Given the description of an element on the screen output the (x, y) to click on. 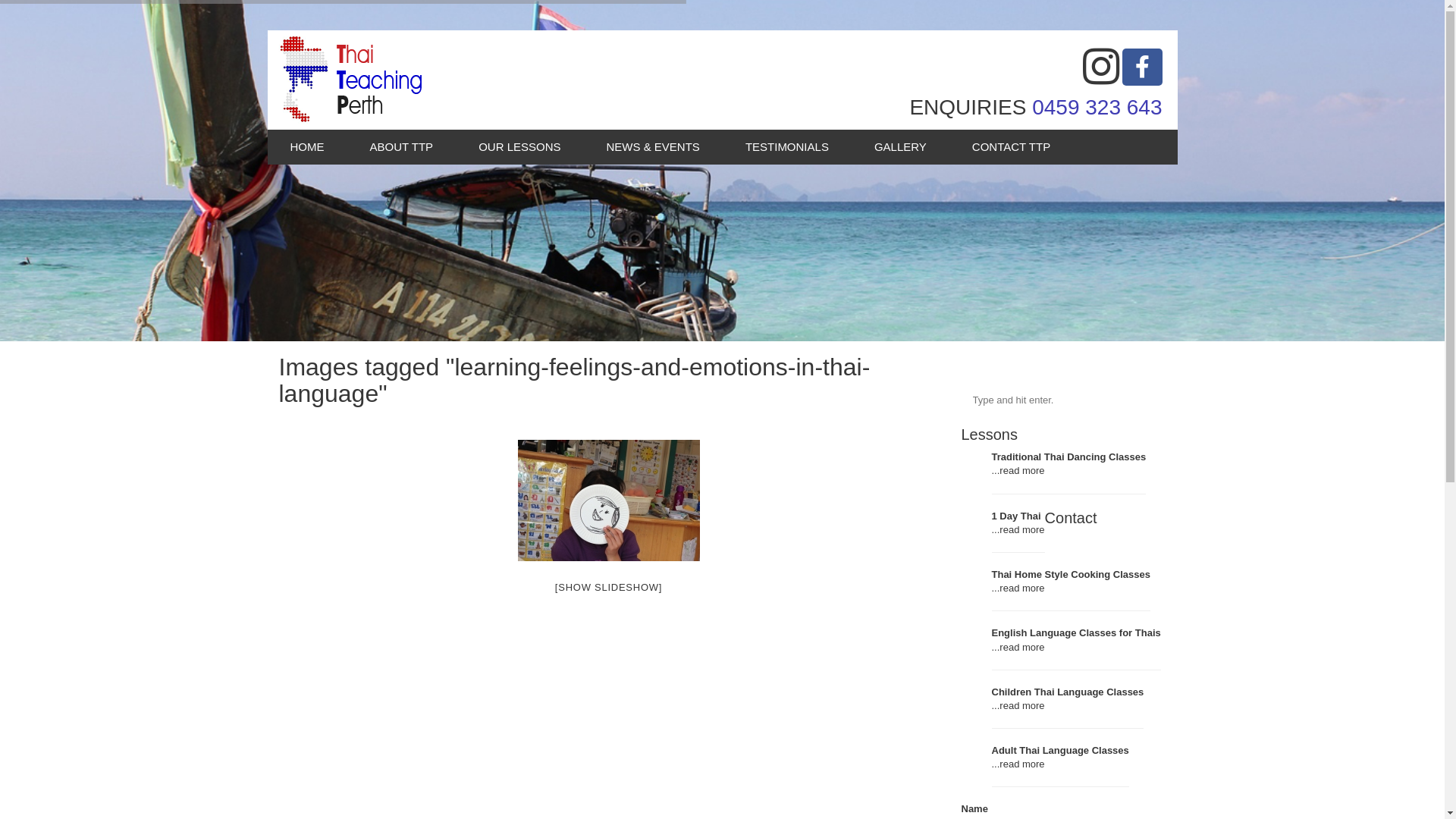
HOME Element type: text (306, 146)
read more Element type: text (1021, 529)
GALLERY Element type: text (900, 146)
read more Element type: text (1021, 705)
read more Element type: text (1021, 587)
Children Thai Language Classes Element type: text (1067, 691)
Feelings and emotions in Thai language Element type: hover (608, 500)
TESTIMONIALS Element type: text (786, 146)
[SHOW SLIDESHOW] Element type: text (608, 587)
ABOUT TTP Element type: text (401, 146)
read more Element type: text (1021, 763)
Adult Thai Language Classes Element type: text (1060, 750)
NEWS & EVENTS Element type: text (652, 146)
1 Day Thai Element type: text (1016, 515)
Thai Home Style Cooking Classes Element type: text (1071, 574)
read more Element type: text (1021, 470)
English Language Classes for Thais Element type: text (1076, 632)
Search Element type: text (1100, 399)
CONTACT TTP Element type: text (1011, 146)
Traditional Thai Dancing Classes Element type: text (1068, 456)
OUR LESSONS Element type: text (519, 146)
read more Element type: text (1021, 646)
